Given the description of an element on the screen output the (x, y) to click on. 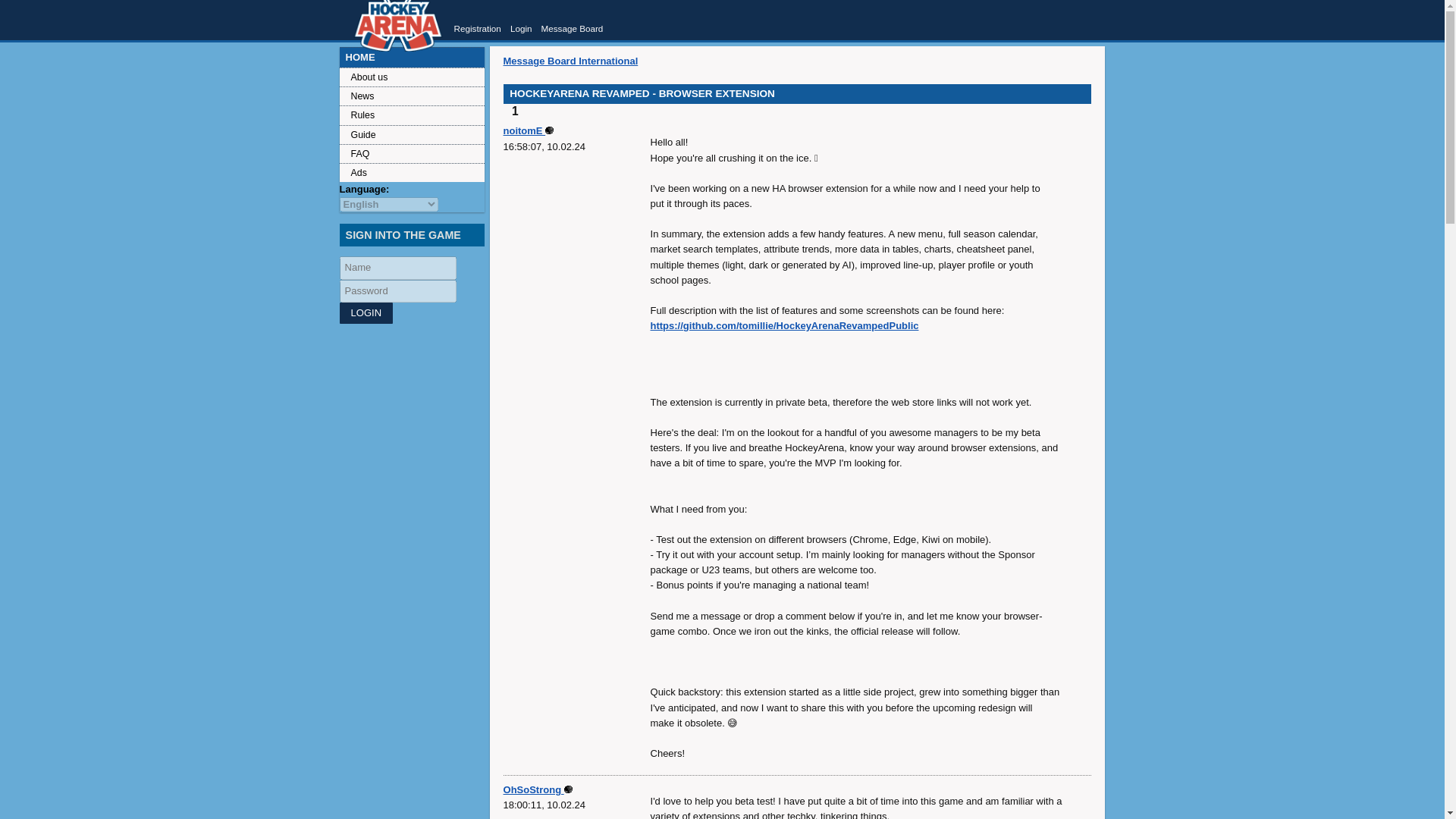
OhSoStrong (537, 789)
About us (411, 76)
HOME (411, 56)
Guide (411, 134)
noitomE (528, 130)
Ads (411, 171)
Message Board (571, 28)
News (411, 95)
Login (521, 28)
FAQ (411, 153)
Login (366, 312)
Rules (411, 114)
Registration (476, 28)
Message Board International (571, 60)
Login (366, 312)
